Given the description of an element on the screen output the (x, y) to click on. 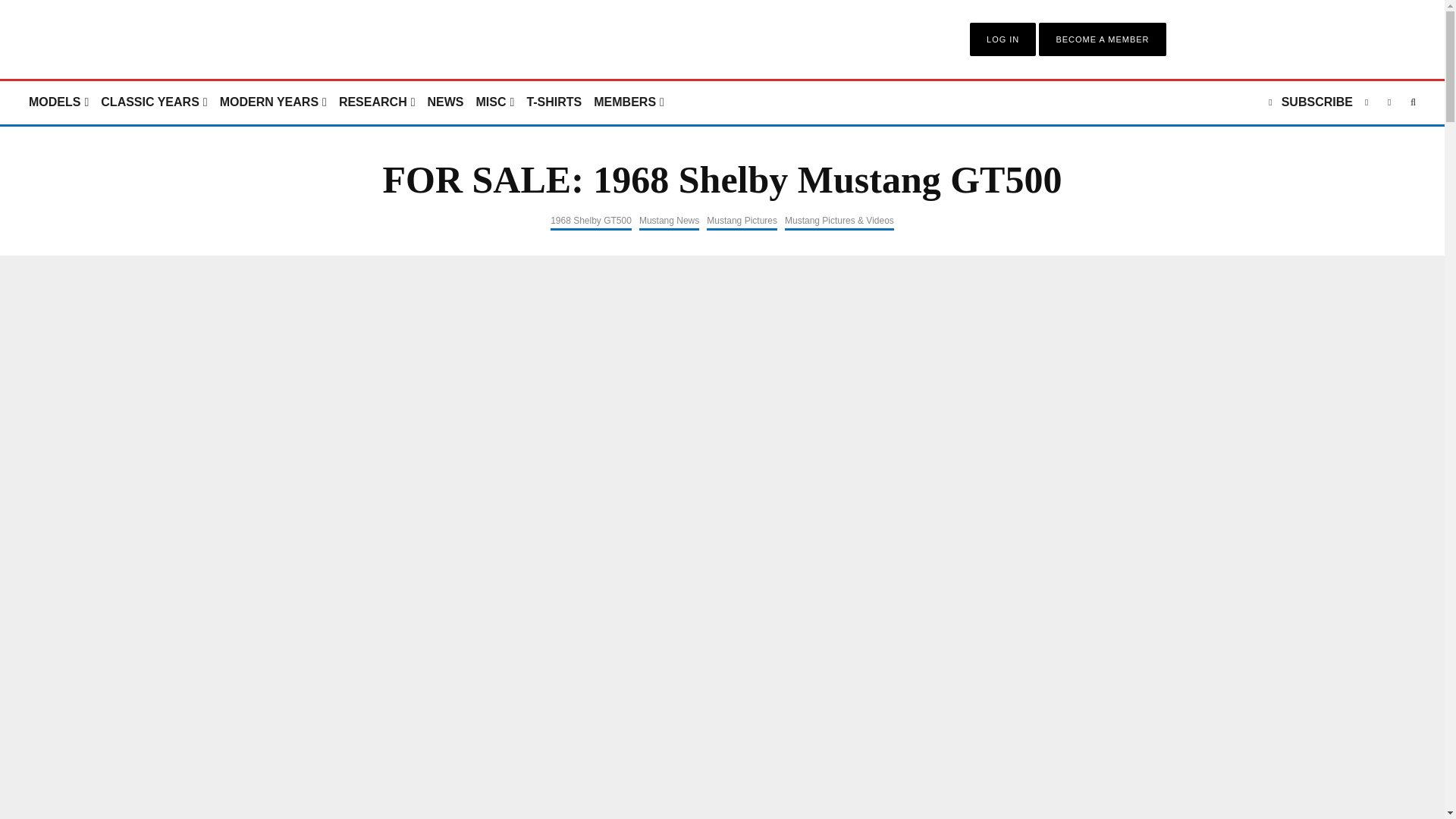
BECOME A MEMBER (1101, 39)
CLASSIC YEARS (153, 102)
MODELS (58, 102)
LOG IN (1003, 39)
